Given the description of an element on the screen output the (x, y) to click on. 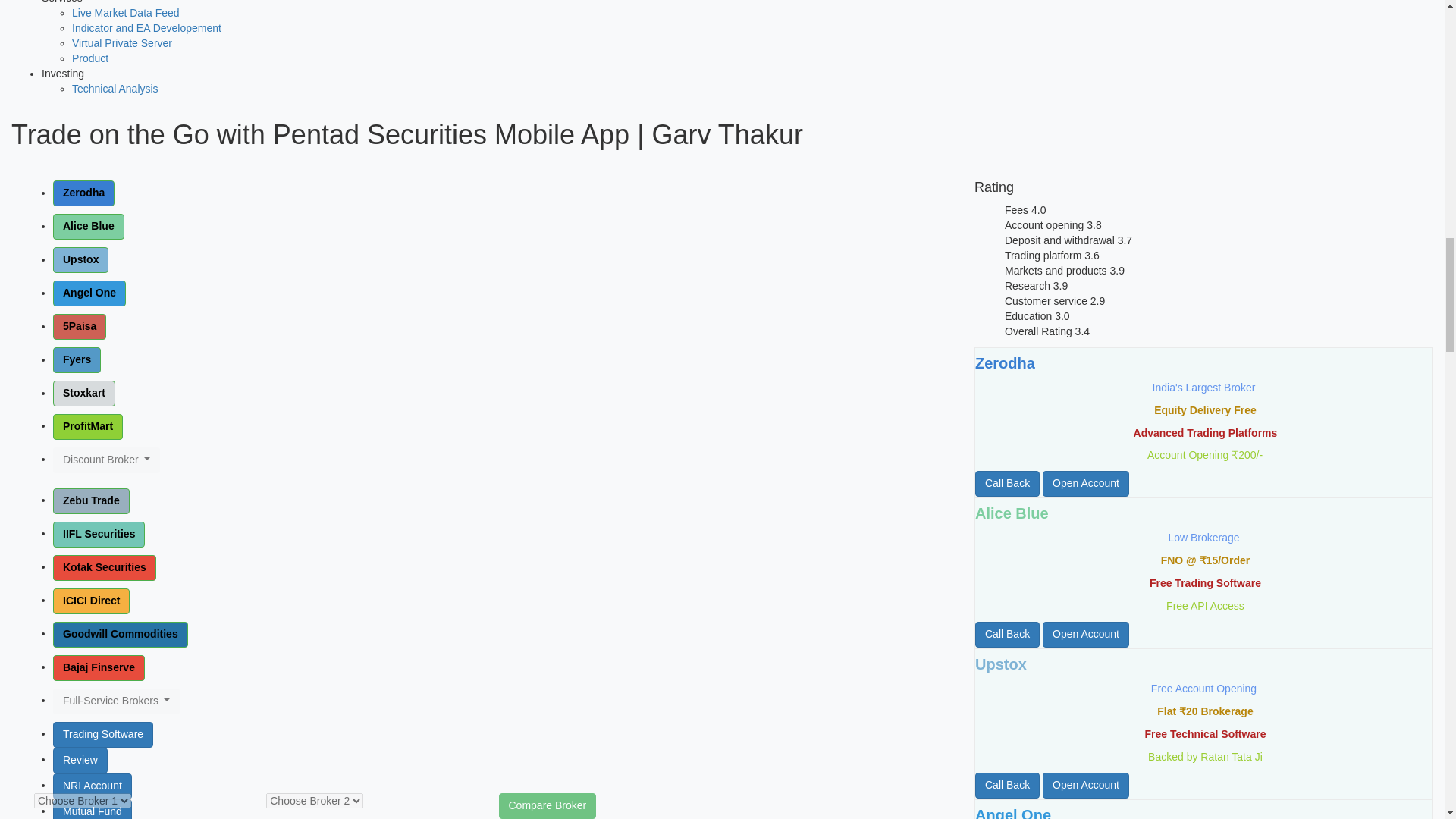
Compare Broker (547, 806)
